Given the description of an element on the screen output the (x, y) to click on. 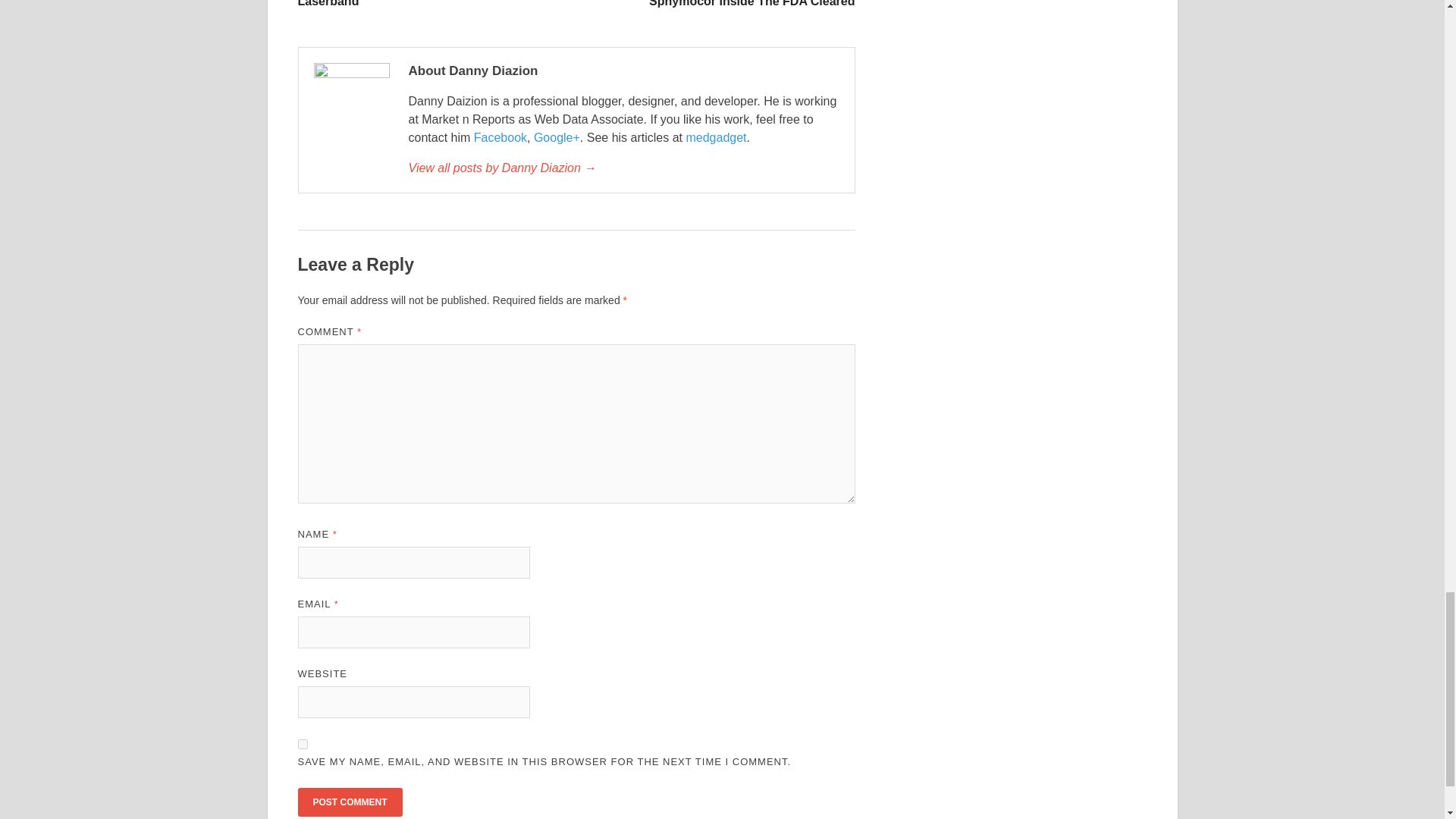
Danny Diazion (622, 167)
Post Comment (349, 801)
yes (302, 744)
medgadget (715, 137)
Post Comment (349, 801)
Facebook (500, 137)
